Given the description of an element on the screen output the (x, y) to click on. 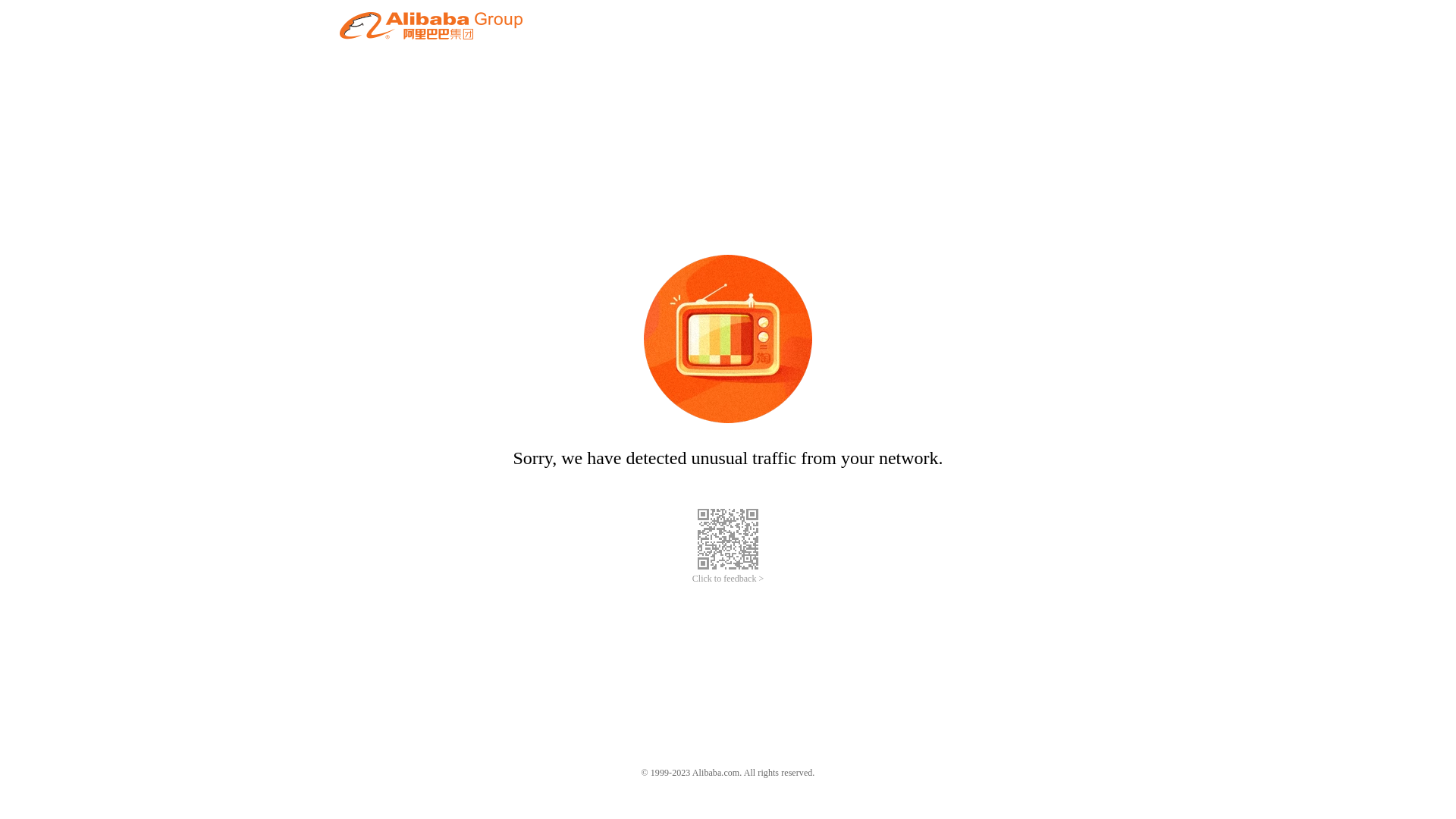
Click to feedback > Element type: text (727, 578)
